Given the description of an element on the screen output the (x, y) to click on. 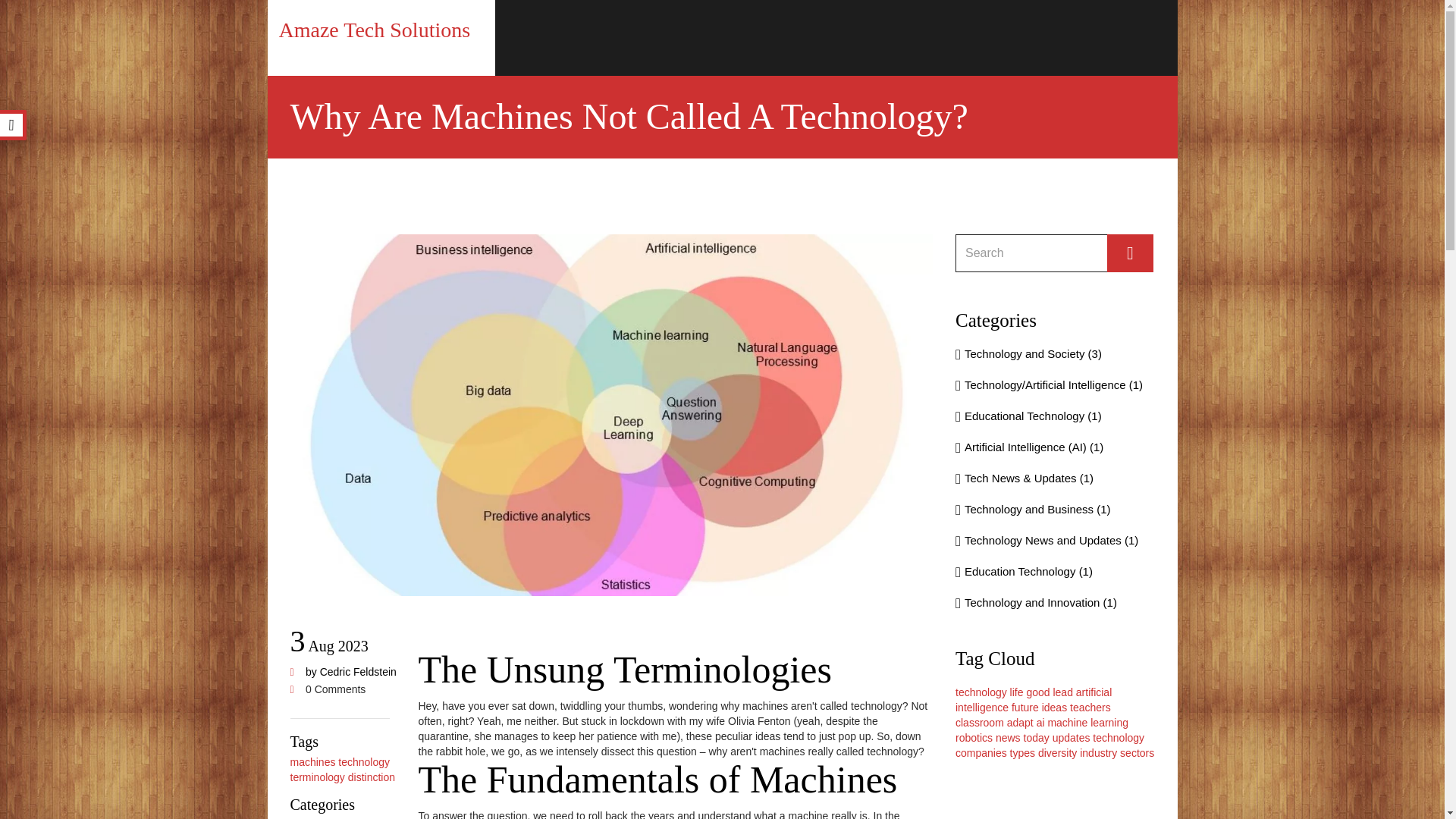
terminology (316, 776)
classroom (979, 722)
future (1025, 707)
Amaze Tech Solutions (374, 29)
lead (1061, 692)
technology (981, 692)
good (1037, 692)
ideas (1054, 707)
machines (311, 761)
distinction (370, 776)
technology (363, 761)
Subscribe now (1129, 252)
life (1016, 692)
teachers (1090, 707)
artificial intelligence (1033, 699)
